Given the description of an element on the screen output the (x, y) to click on. 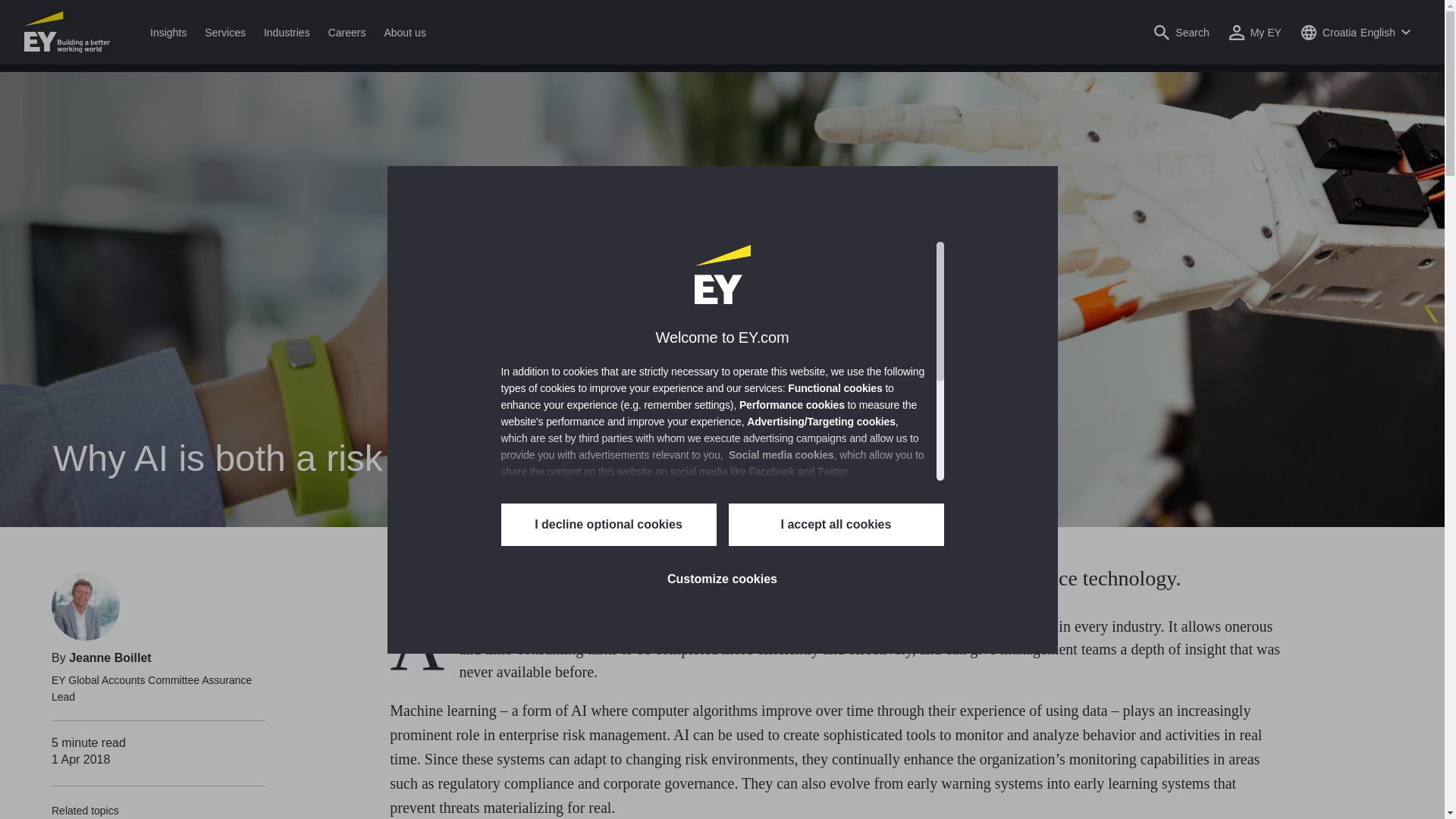
EY Homepage (67, 32)
Jeanne Boillet (84, 606)
Open country language switcher (1355, 32)
My EY (1255, 32)
Open search (1181, 32)
